Given the description of an element on the screen output the (x, y) to click on. 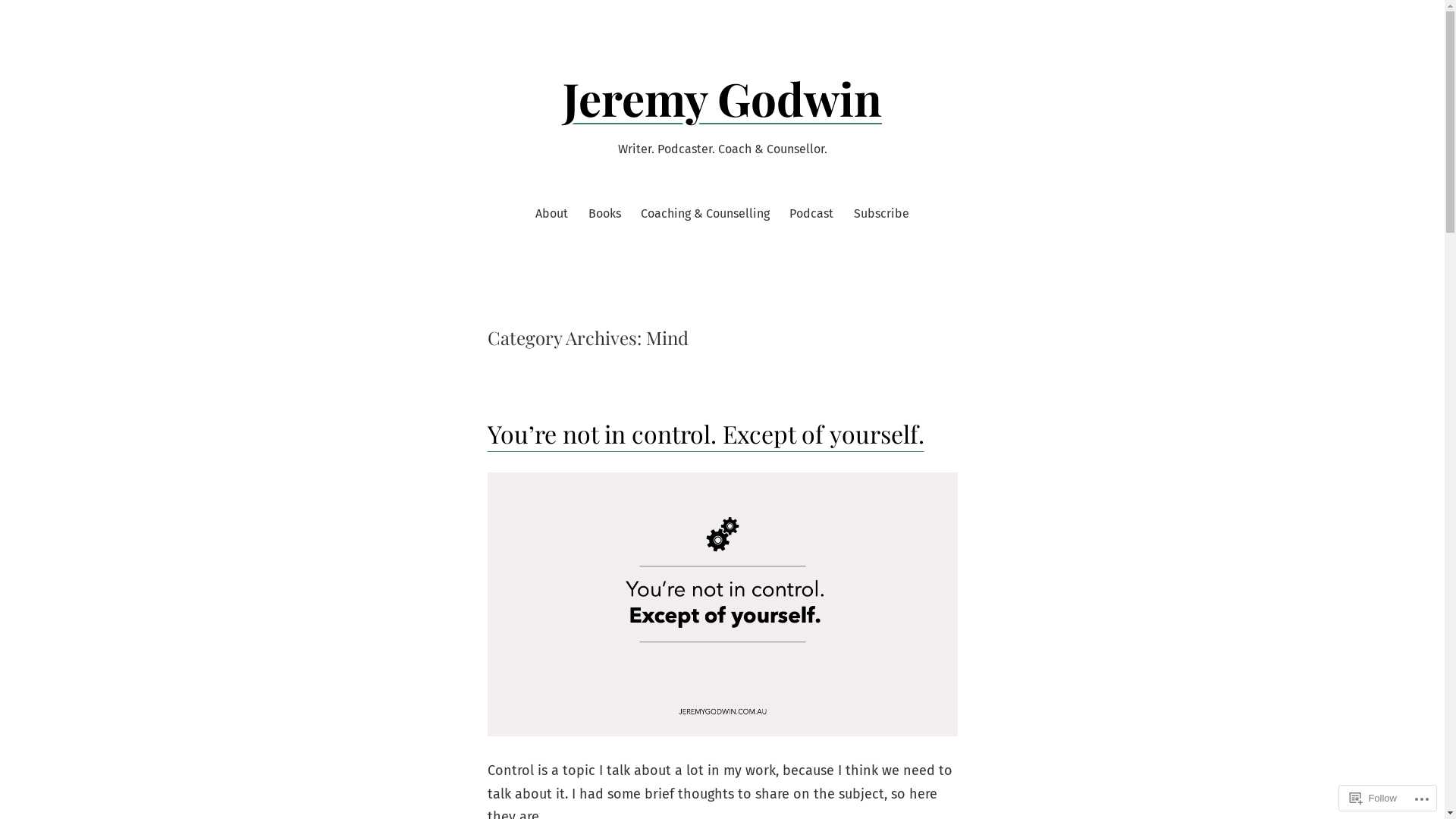
Subscribe Element type: text (881, 213)
Coaching & Counselling Element type: text (704, 213)
About Element type: text (551, 213)
Podcast Element type: text (811, 213)
Books Element type: text (604, 213)
Jeremy Godwin Element type: text (721, 97)
Follow Element type: text (1372, 797)
